Given the description of an element on the screen output the (x, y) to click on. 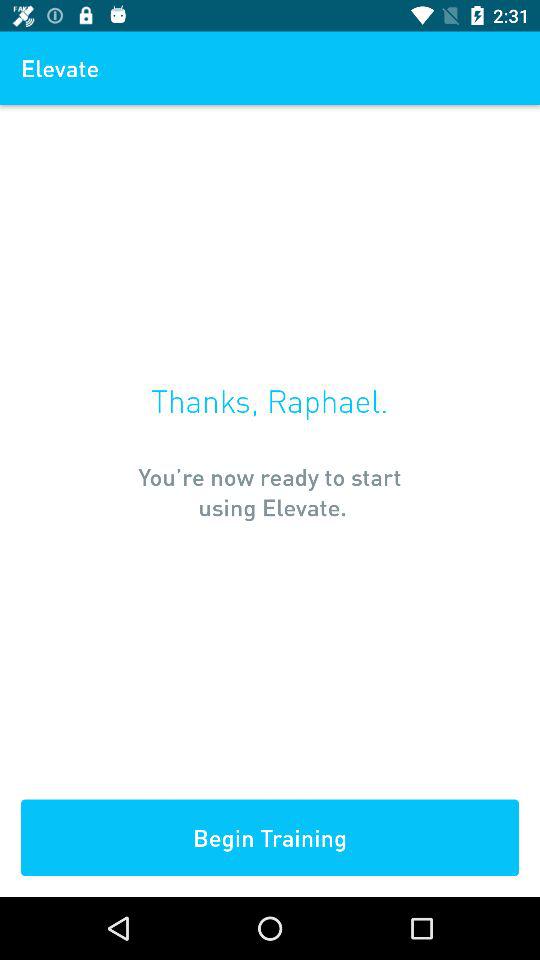
flip to begin training item (270, 837)
